Given the description of an element on the screen output the (x, y) to click on. 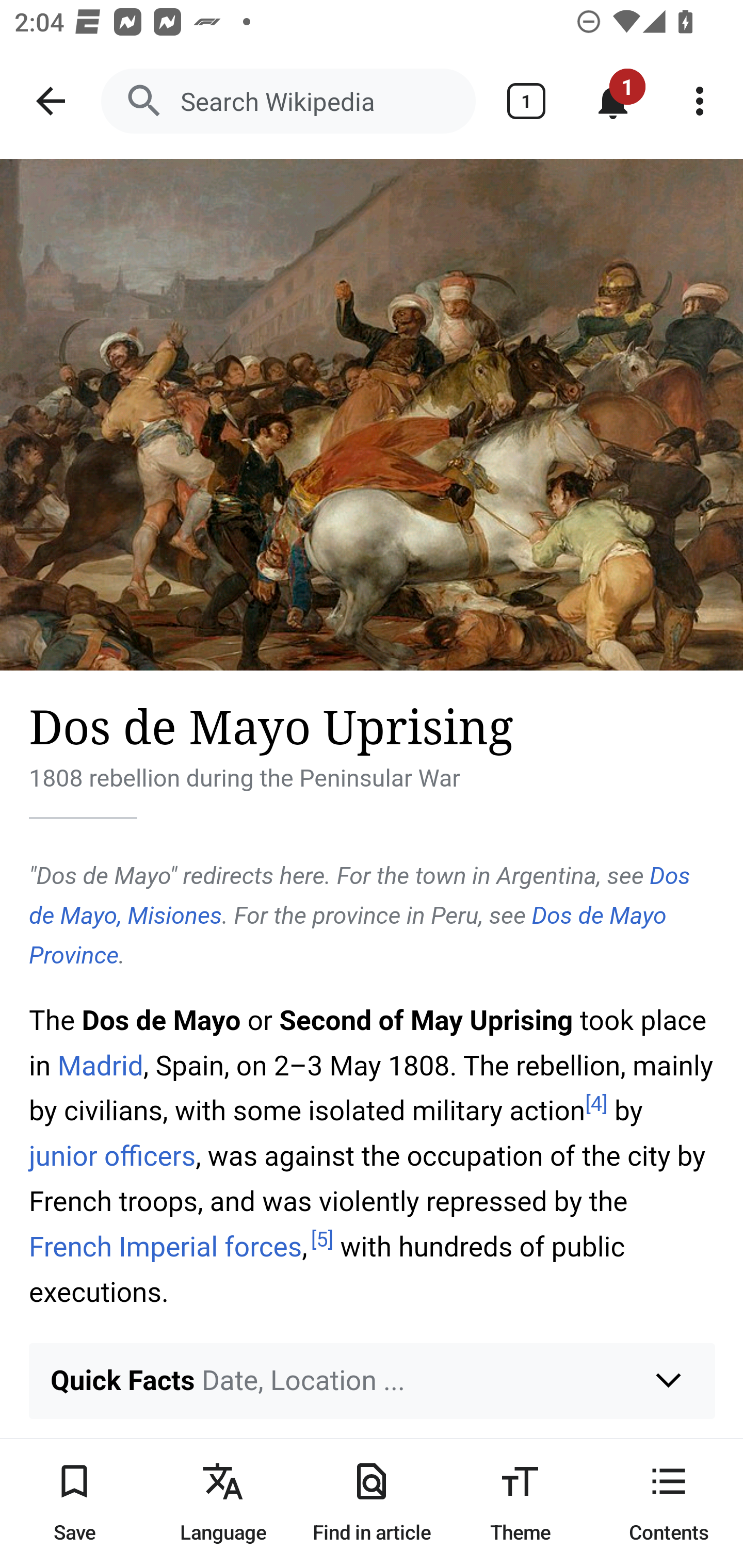
Show tabs 1 (525, 100)
Notifications 1 (612, 100)
Navigate up (50, 101)
More options (699, 101)
Search Wikipedia (288, 100)
Image: Dos de Mayo Uprising (371, 414)
Dos de Mayo, Misiones (359, 895)
Dos de Mayo Province (347, 935)
Madrid (99, 1065)
[] [ 4 ] (596, 1102)
junior officers (112, 1155)
[] [ 5 ] (321, 1239)
French Imperial forces (165, 1246)
Quick Facts  Date, Location ... Expand table (372, 1380)
Save (74, 1502)
Language (222, 1502)
Find in article (371, 1502)
Theme (519, 1502)
Contents (668, 1502)
